Given the description of an element on the screen output the (x, y) to click on. 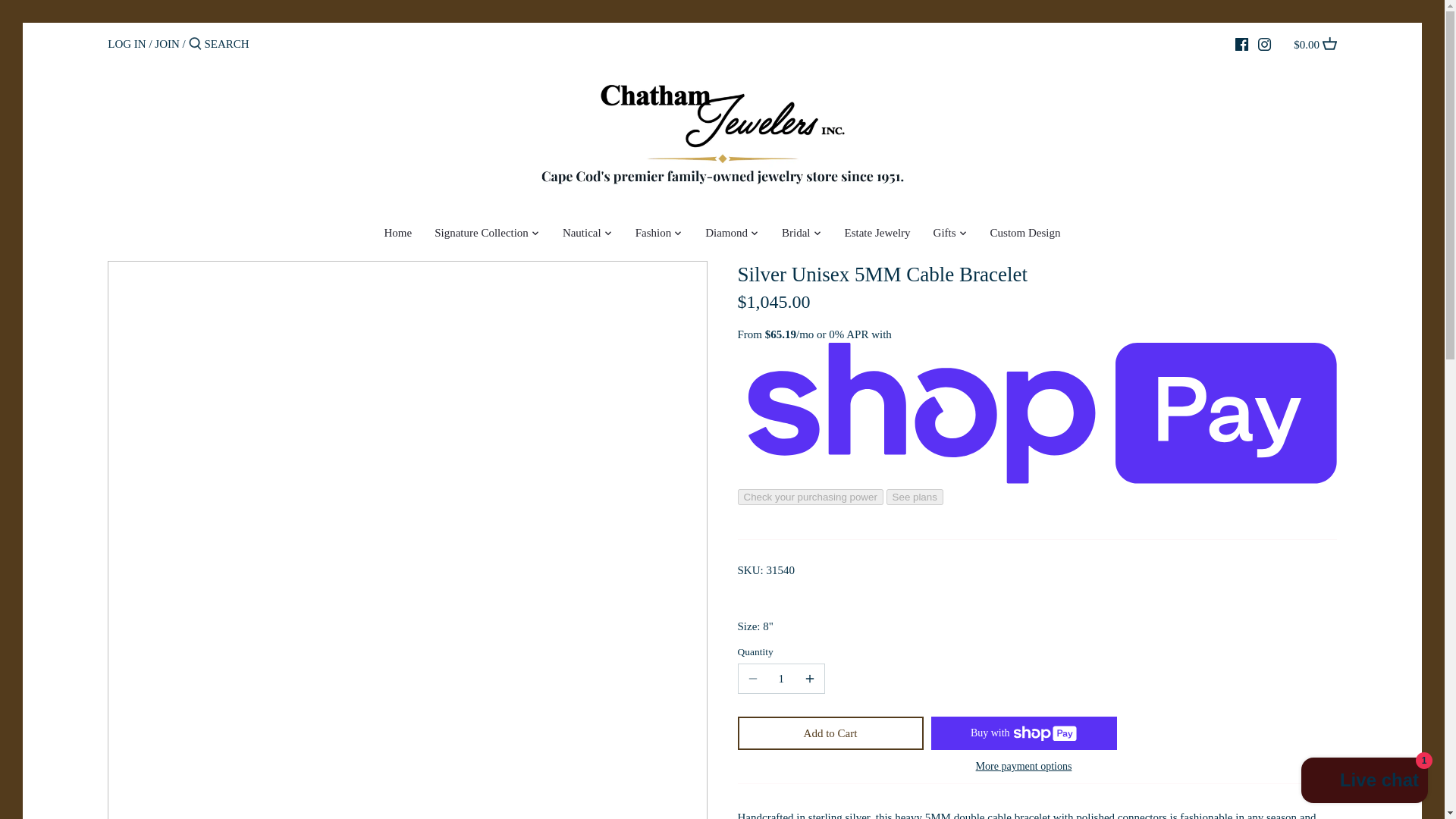
Shopify online store chat (1364, 781)
JOIN (166, 43)
Signature Collection (481, 235)
Nautical (581, 235)
LOG IN (126, 43)
FACEBOOK (1240, 43)
1 (781, 678)
INSTAGRAM (1264, 43)
Home (397, 235)
Fashion (653, 235)
